Given the description of an element on the screen output the (x, y) to click on. 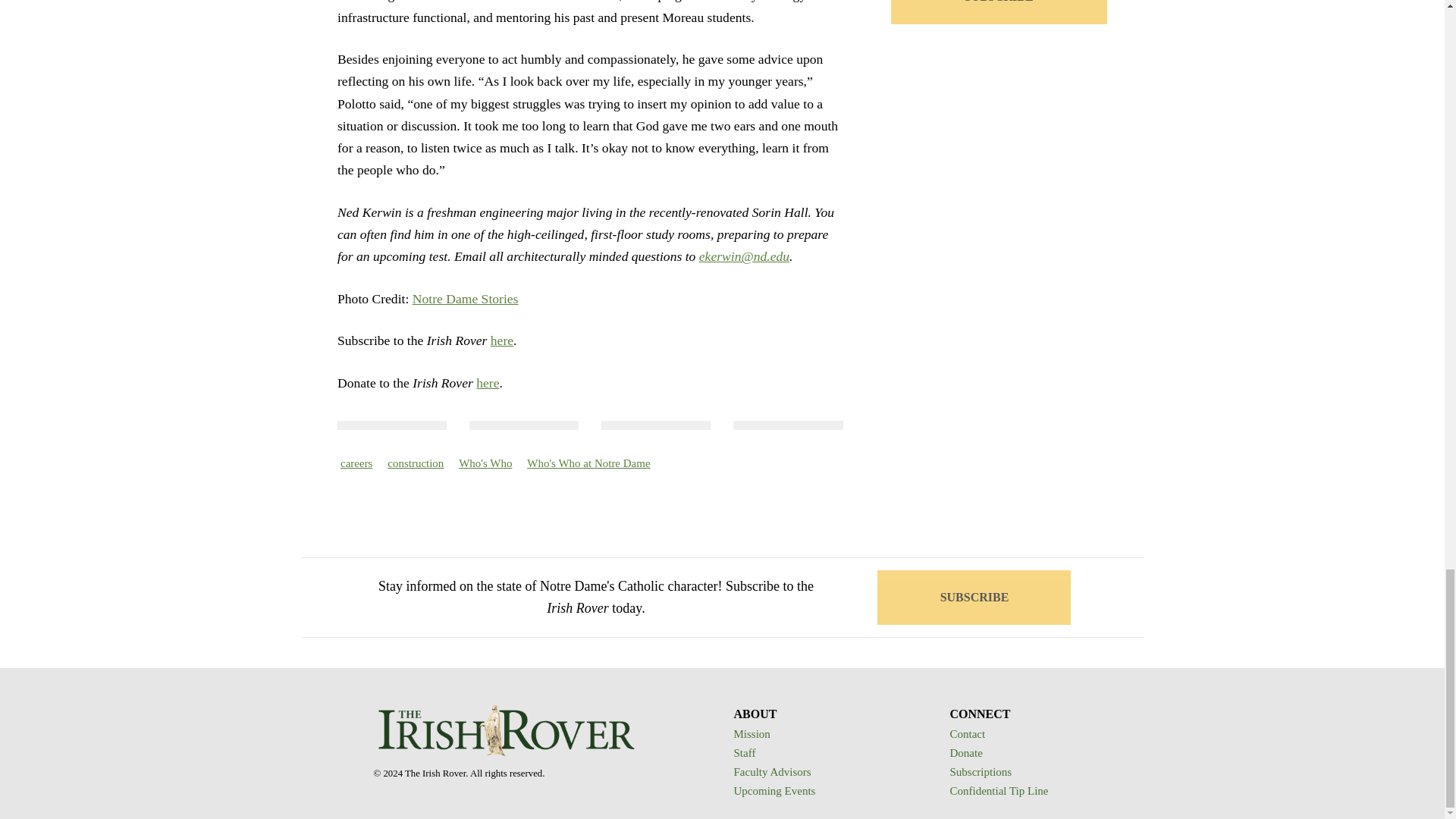
Notre Dame Stories (465, 298)
careers (356, 463)
Who's Who at Notre Dame (588, 463)
here (501, 340)
here (487, 382)
construction (415, 463)
Who's Who (485, 463)
